Given the description of an element on the screen output the (x, y) to click on. 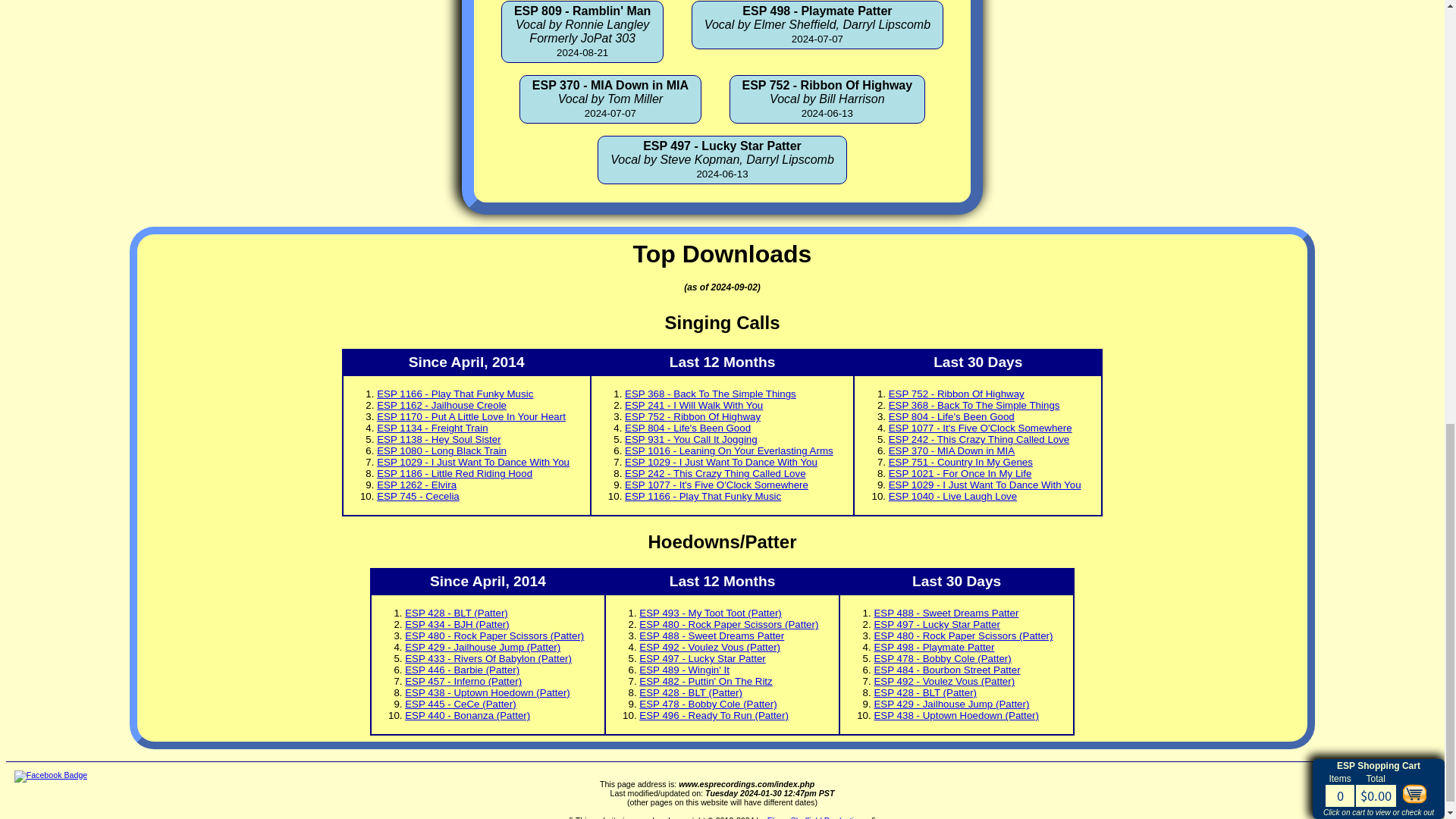
ESP 1262 - Elvira (417, 484)
ESP 1080 - Long Black Train (441, 450)
ESP 1166 - Play That Funky Music (702, 496)
ESP 1138 - Hey Soul Sister (438, 439)
ESP 745 - Cecelia (418, 496)
ESP 242 - This Crazy Thing Called Love (715, 473)
ESP 1029 - I Just Want To Dance With You (720, 461)
ESP 368 - Back To The Simple Things (710, 393)
How PayPal Works (1378, 774)
